Given the description of an element on the screen output the (x, y) to click on. 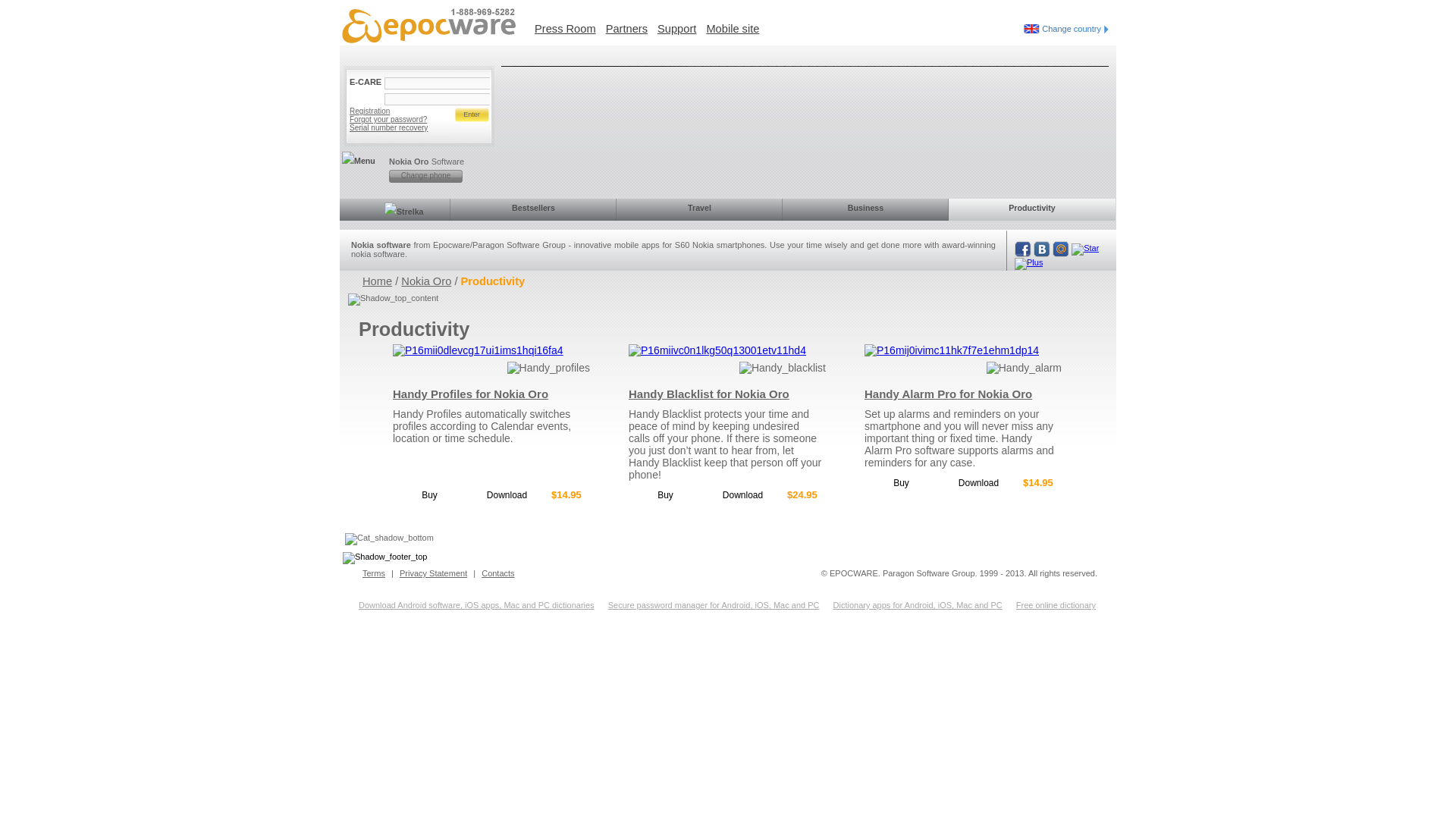
Travel (699, 209)
Productivity (1032, 209)
Download (978, 481)
Privacy Statement (433, 573)
Handy Profiles for Nokia Oro (489, 393)
Mobile site (732, 28)
Buy (664, 494)
Nokia Oro (426, 281)
Download Android software, iOS apps, Mac and PC dictionaries (476, 604)
Support (676, 28)
Press Room (564, 28)
Secure password manager for Android, iOS, Mac and PC (713, 604)
Contacts (497, 573)
Download (506, 494)
Registration (400, 107)
